Given the description of an element on the screen output the (x, y) to click on. 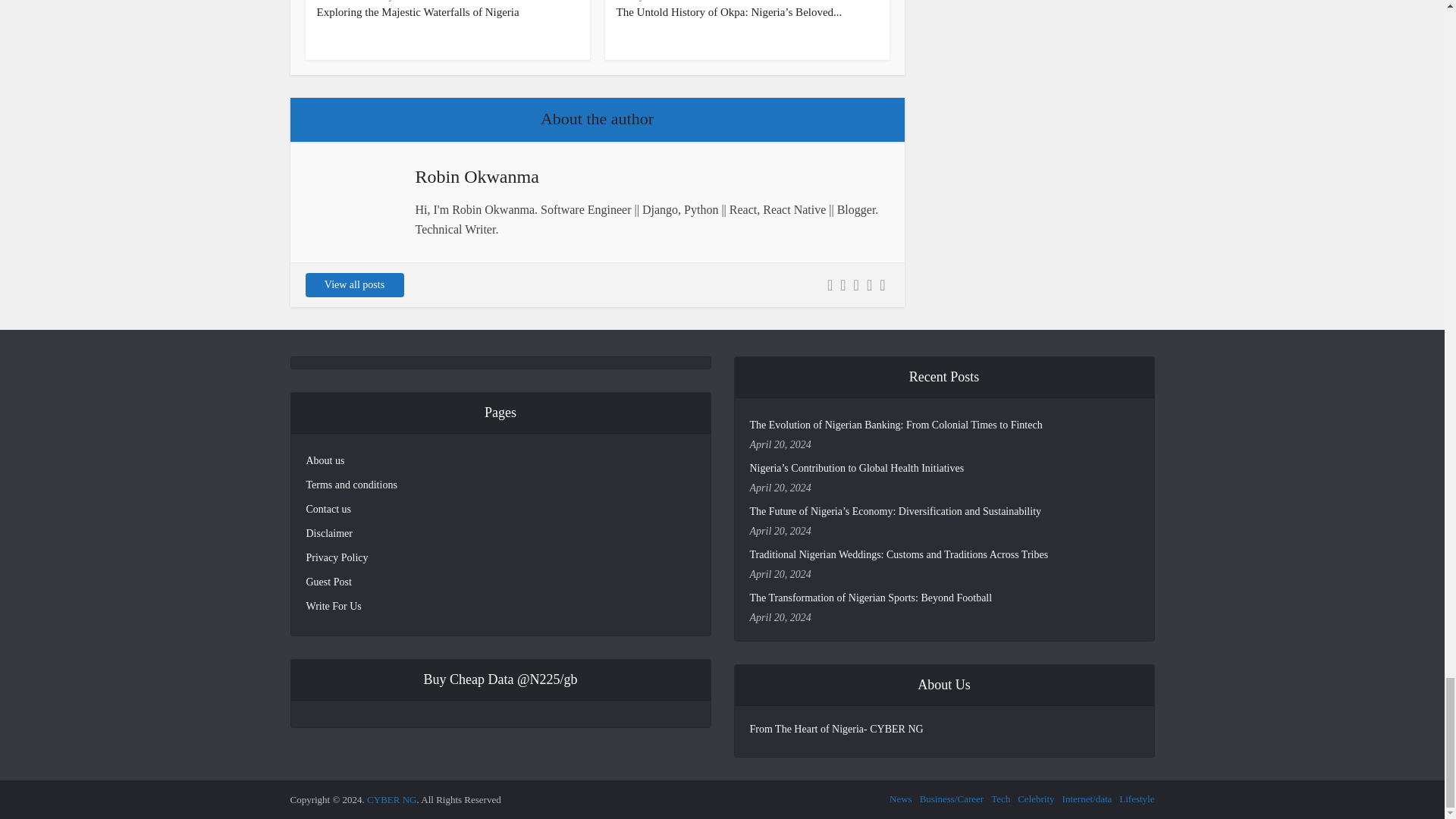
Exploring the Majestic Waterfalls of Nigeria (418, 11)
